Given the description of an element on the screen output the (x, y) to click on. 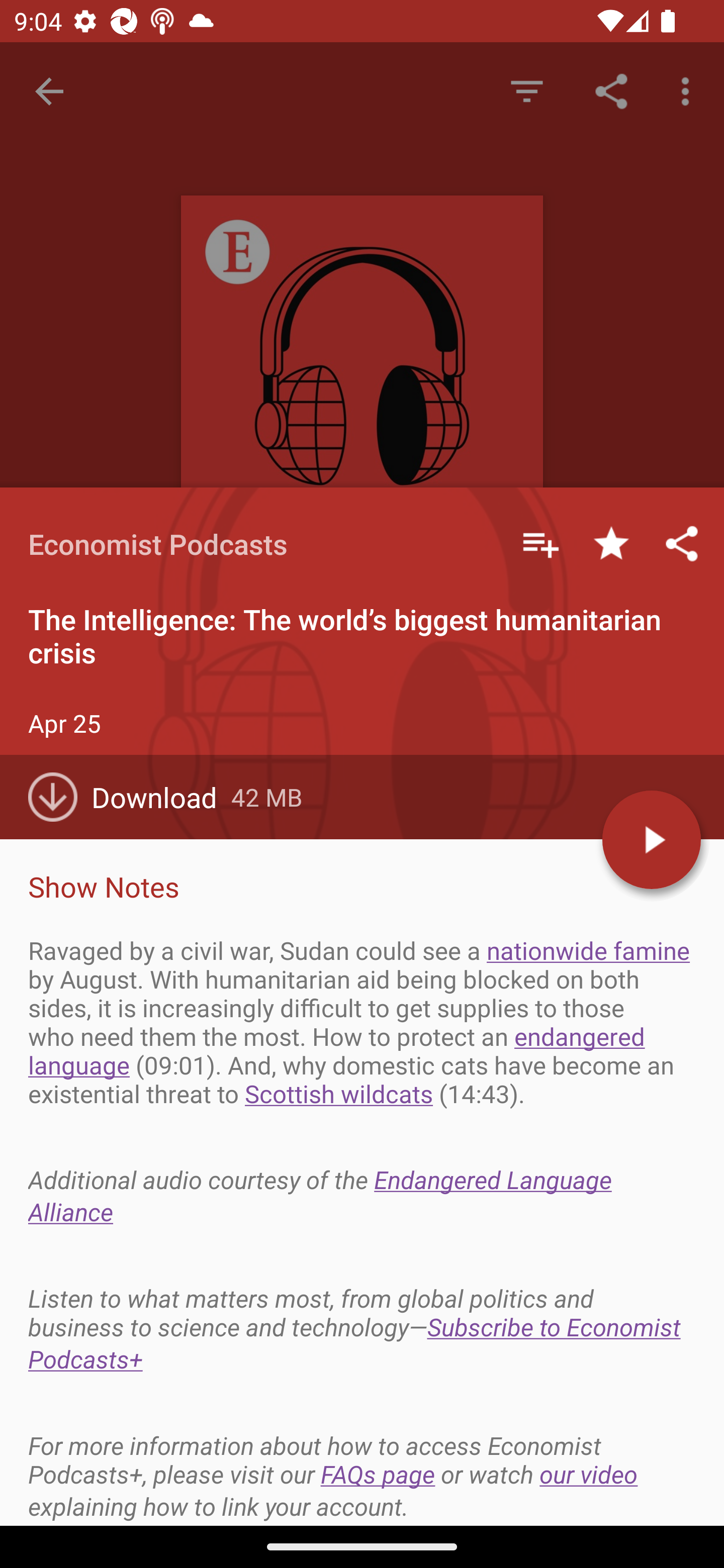
Navigate up (49, 91)
Hide Episodes (526, 90)
Share Link (611, 90)
More options (688, 90)
Download (129, 797)
